Given the description of an element on the screen output the (x, y) to click on. 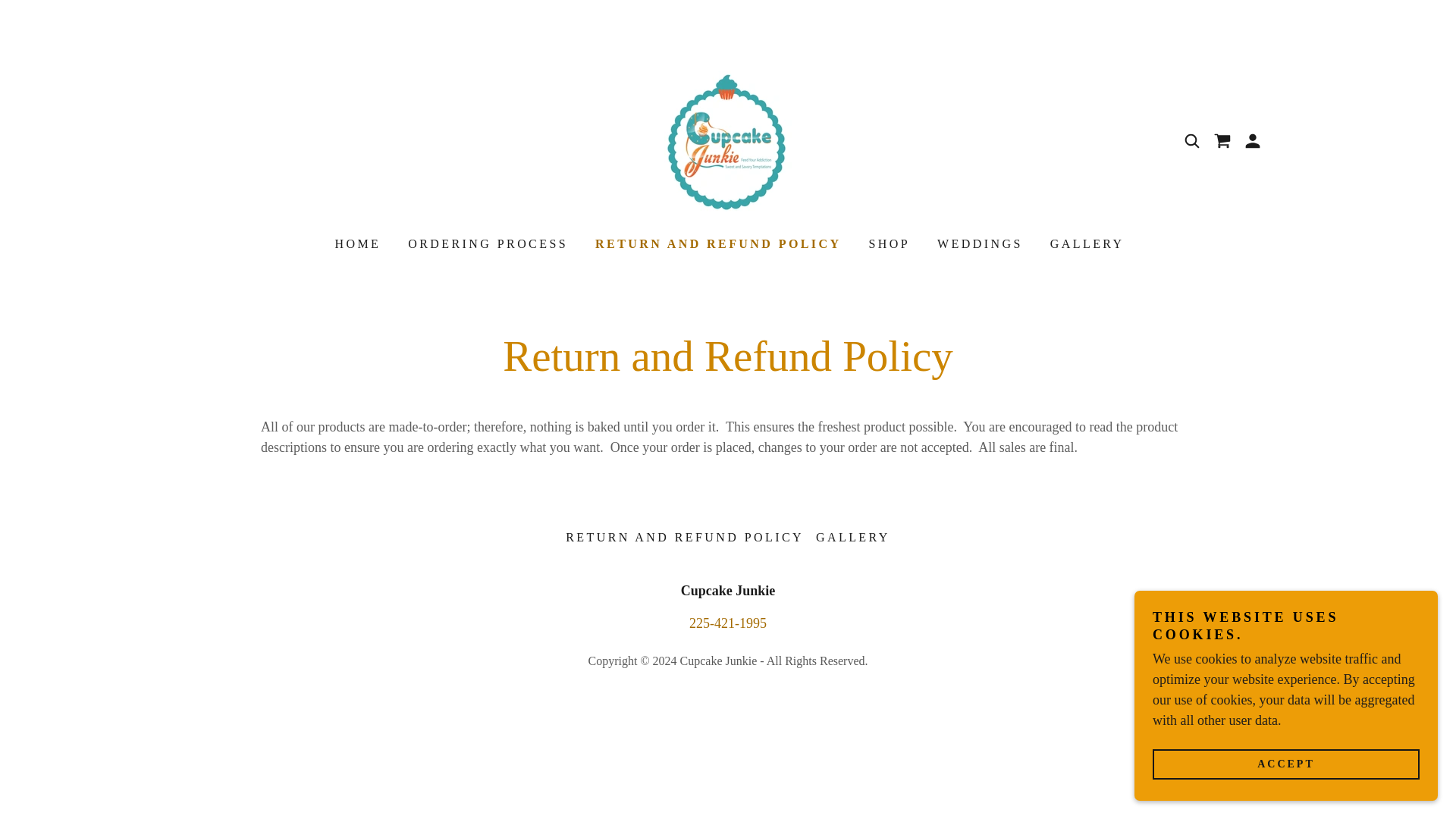
HOME (355, 243)
WEDDINGS (727, 139)
GALLERY (978, 243)
RETURN AND REFUND POLICY (1085, 243)
SHOP (716, 244)
ORDERING PROCESS (887, 243)
